Given the description of an element on the screen output the (x, y) to click on. 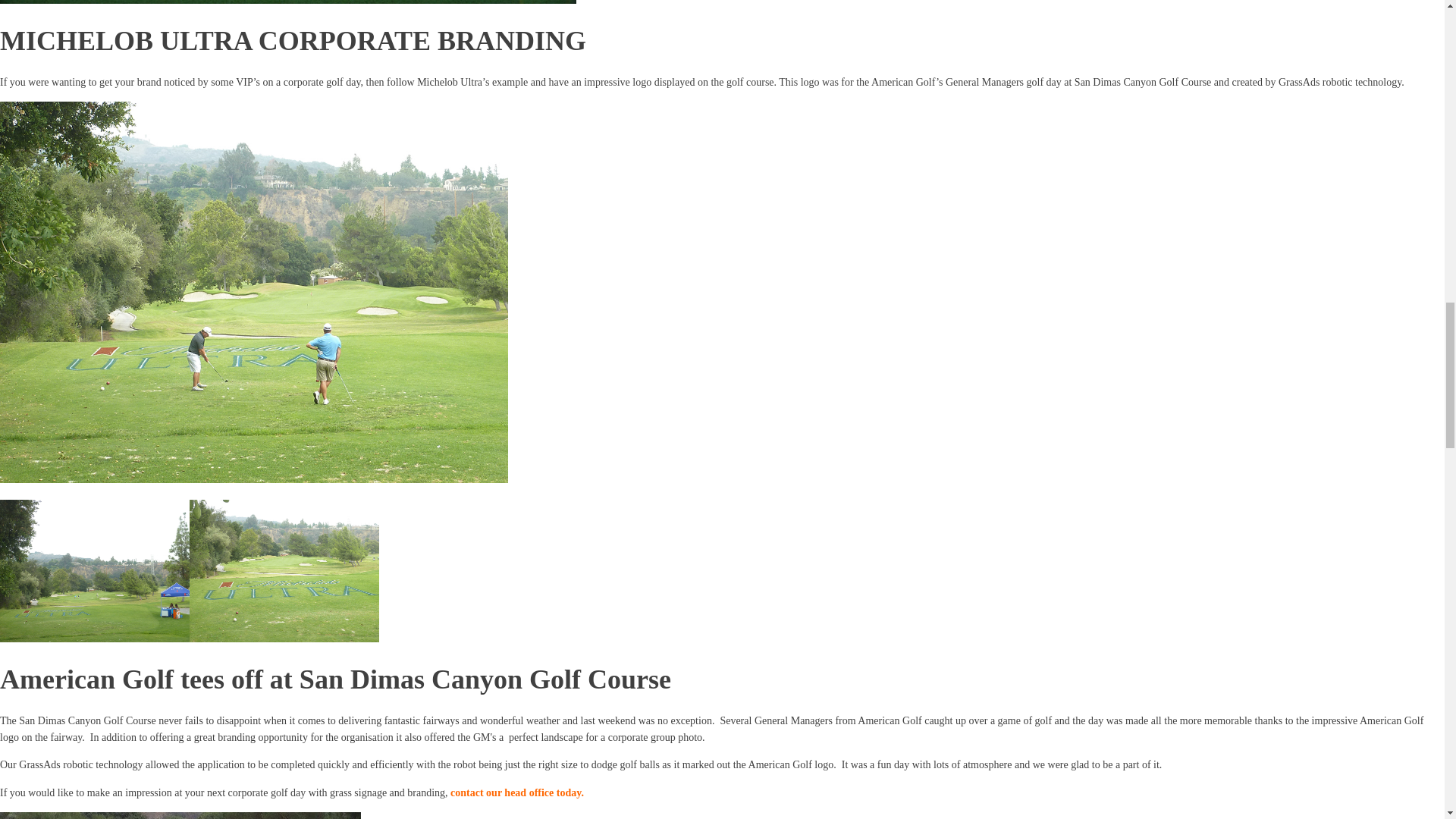
contact our head office today. (516, 792)
